Given the description of an element on the screen output the (x, y) to click on. 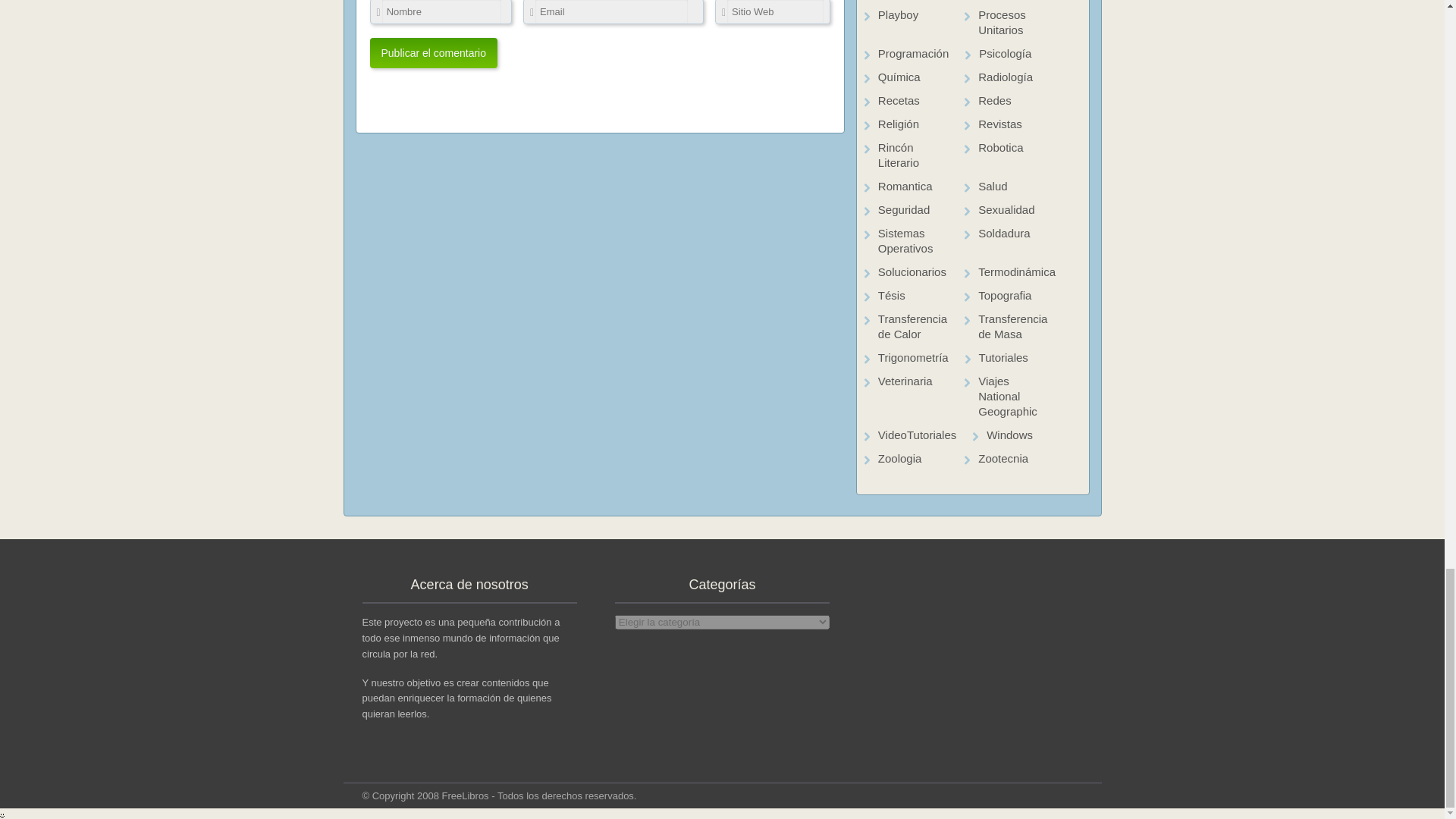
Publicar el comentario (433, 52)
